Given the description of an element on the screen output the (x, y) to click on. 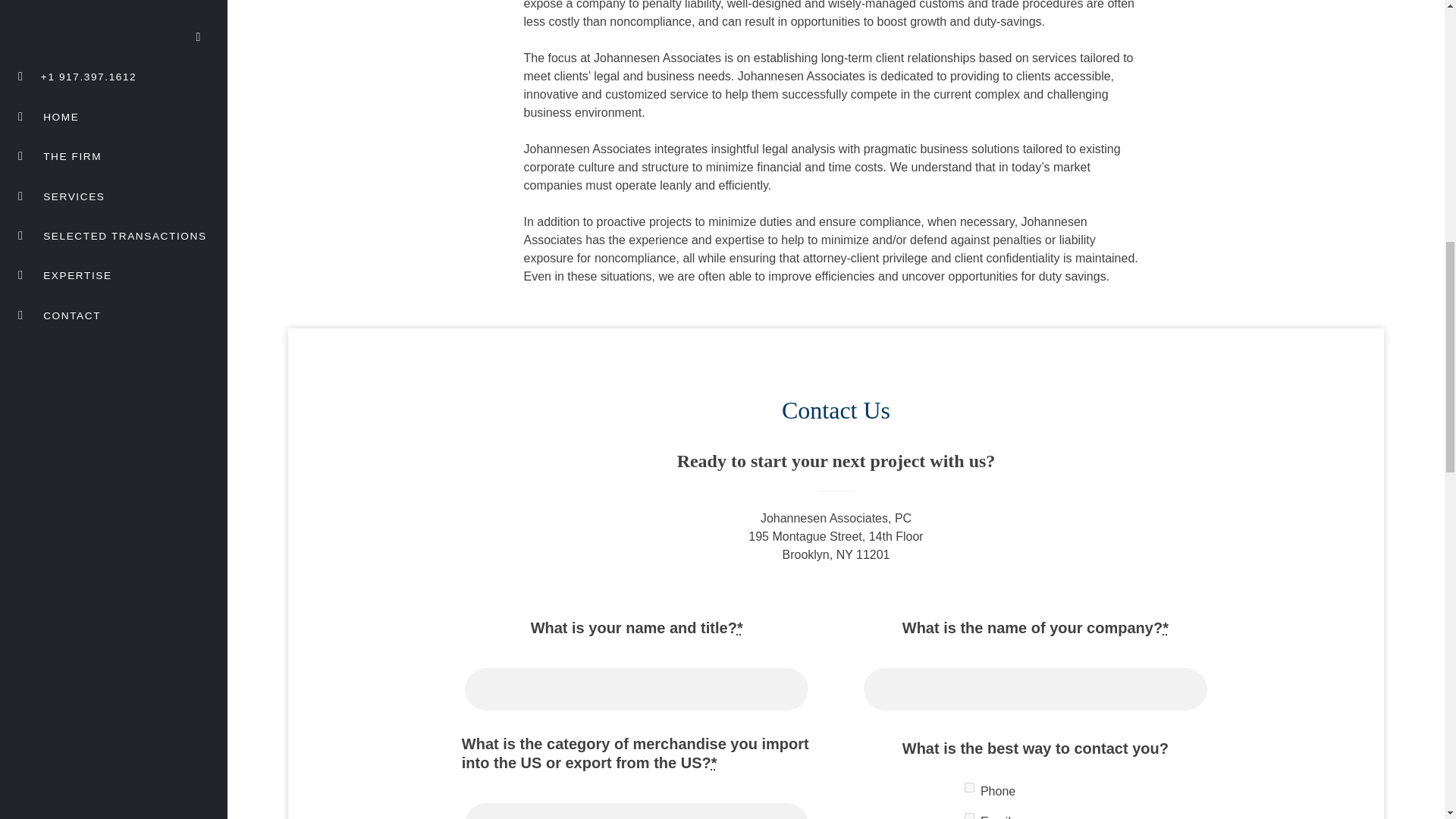
Phone (968, 787)
Email (968, 816)
